Given the description of an element on the screen output the (x, y) to click on. 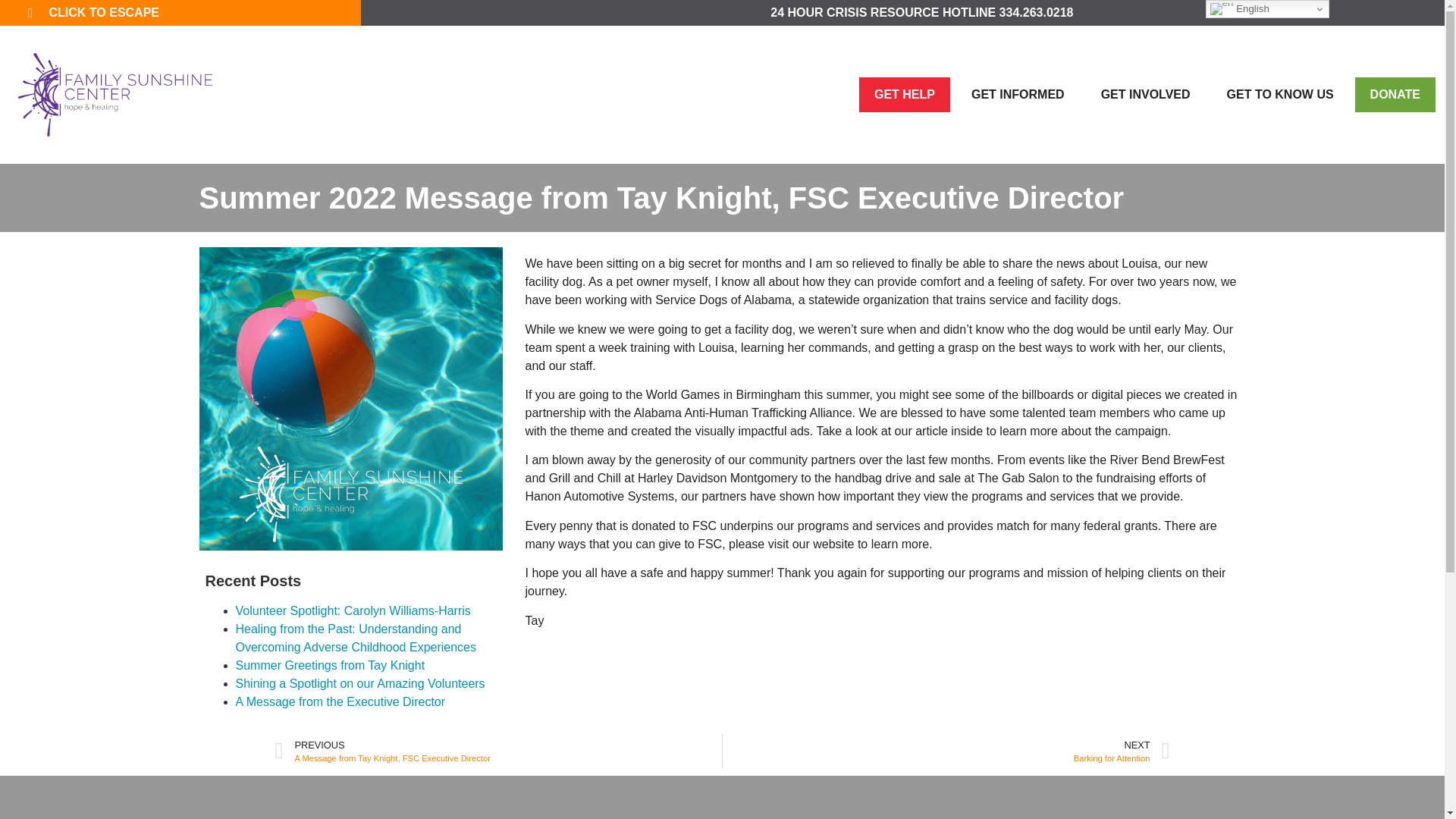
GET INVOLVED (1145, 94)
GET INFORMED (1018, 94)
334.263.0218 (1036, 11)
CLICK TO ESCAPE (194, 13)
GET TO KNOW US (1280, 94)
GET HELP (904, 94)
